Given the description of an element on the screen output the (x, y) to click on. 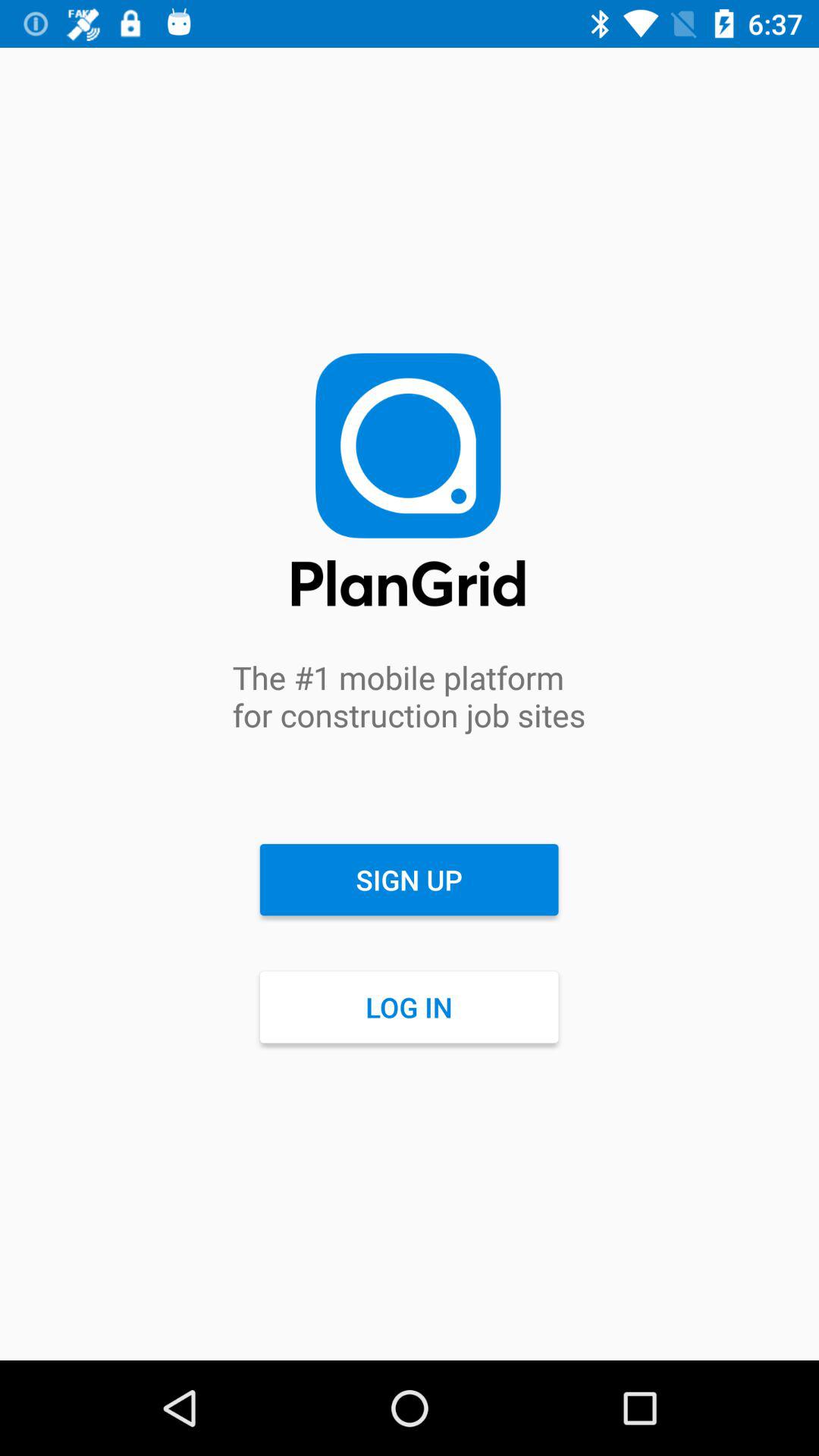
swipe until the sign up (408, 879)
